Given the description of an element on the screen output the (x, y) to click on. 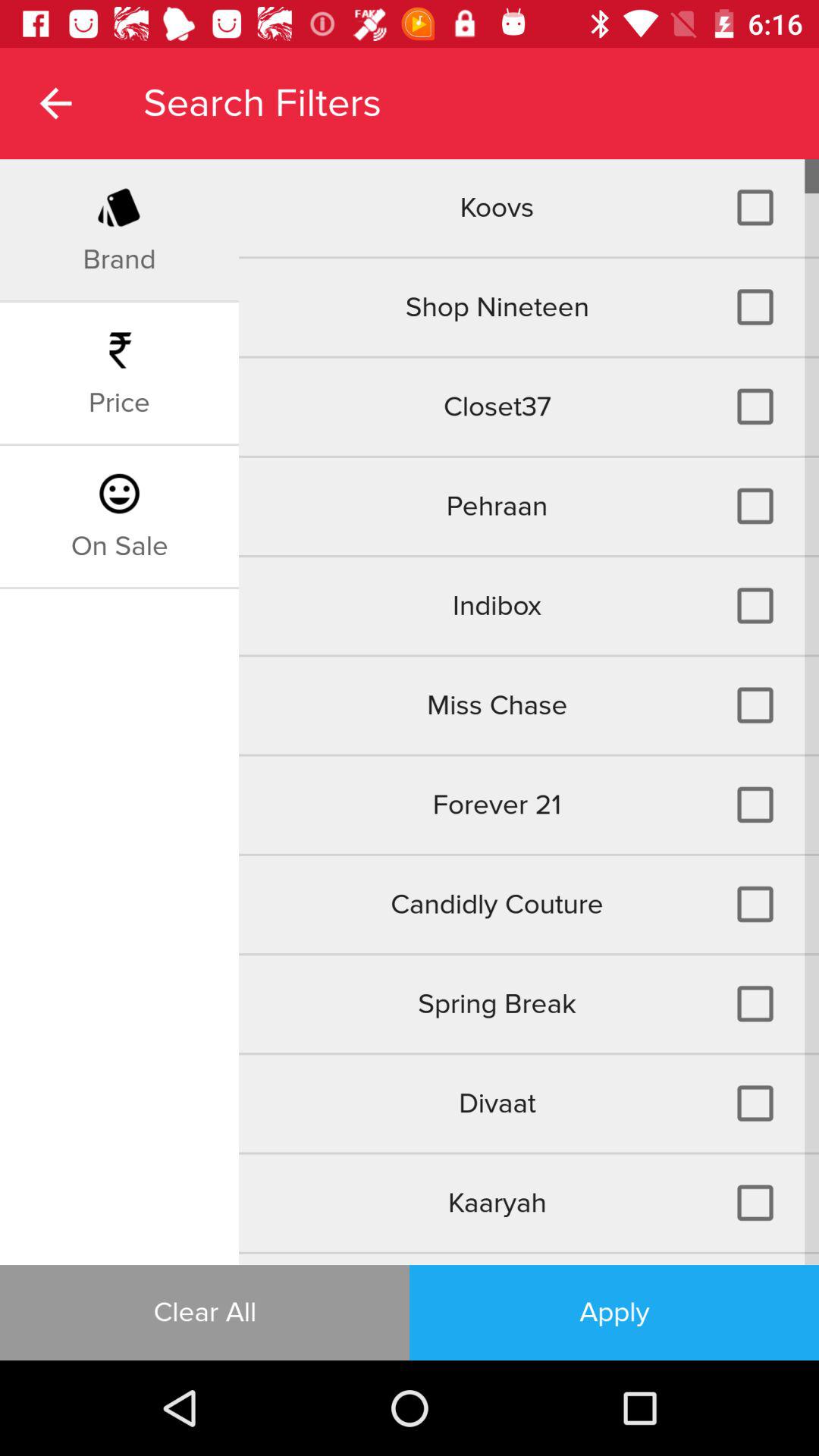
swipe until clear all (204, 1312)
